Given the description of an element on the screen output the (x, y) to click on. 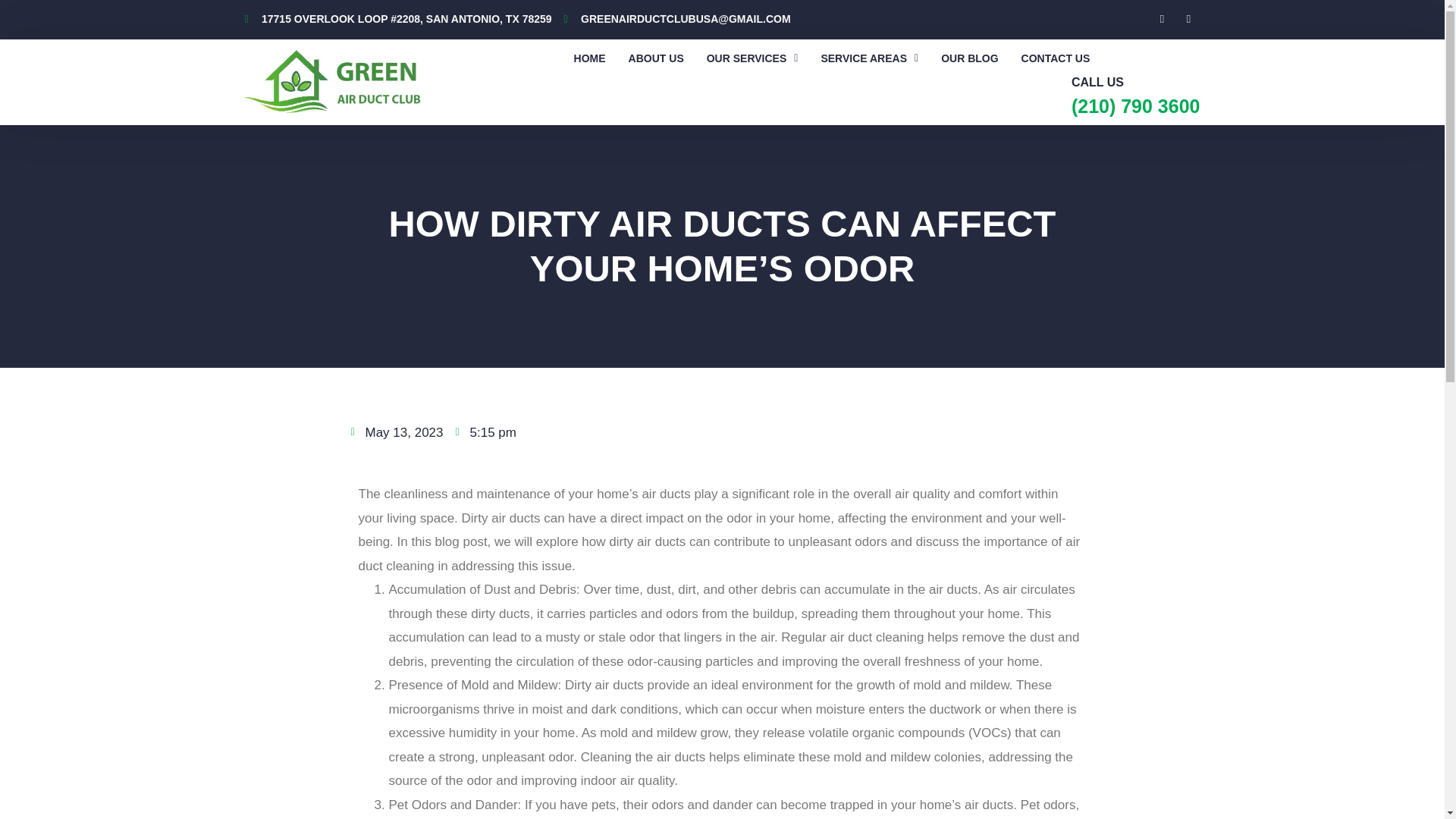
ABOUT US (656, 58)
SERVICE AREAS (869, 58)
OUR SERVICES (752, 58)
CONTACT US (1056, 58)
CALL US (1097, 82)
OUR BLOG (969, 58)
HOME (589, 58)
